Given the description of an element on the screen output the (x, y) to click on. 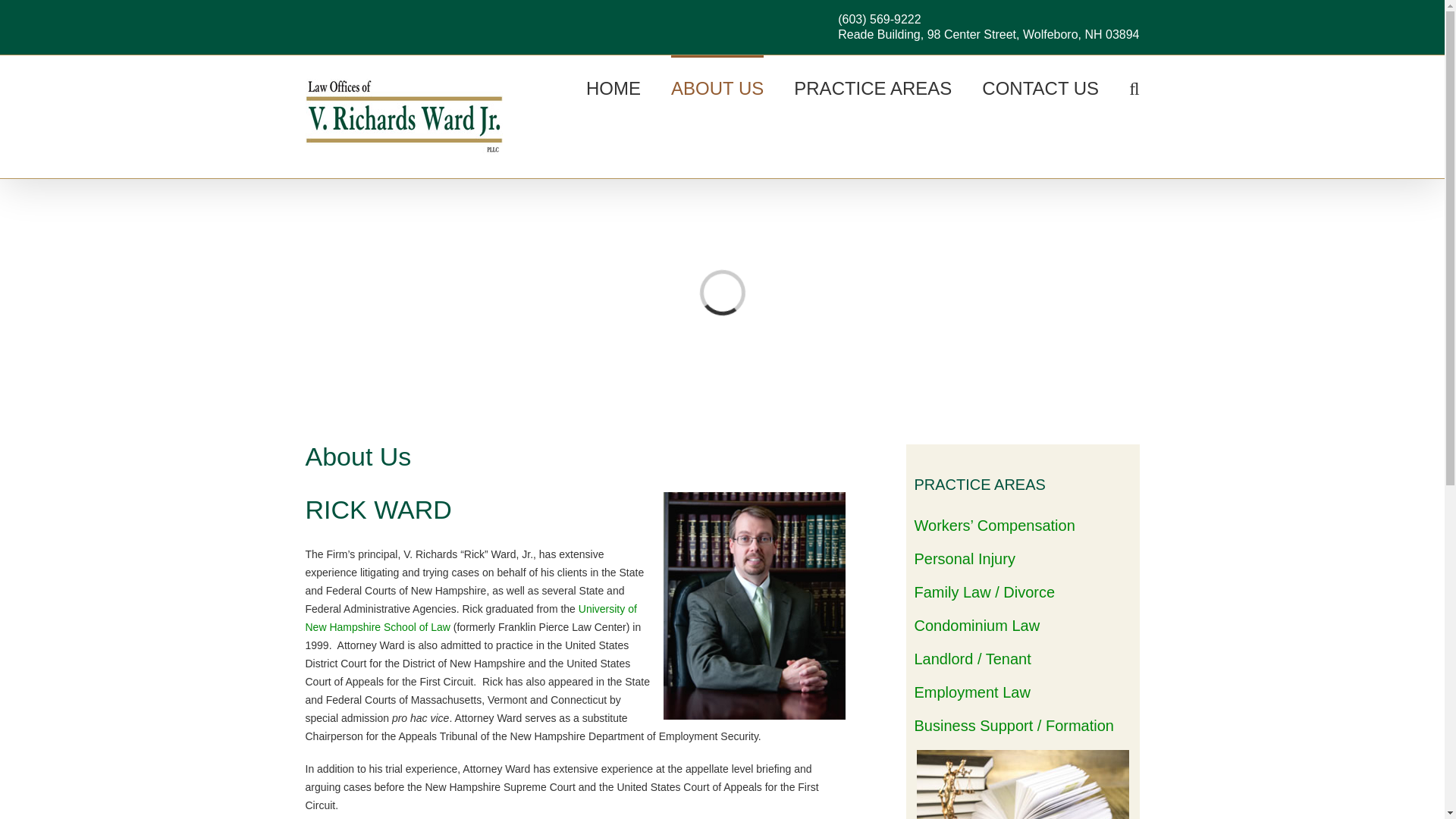
CONTACT US (1040, 86)
ABOUT US (716, 86)
Condominium Law (977, 625)
University of New Hampshire School of Law (470, 617)
PRACTICE AREAS (872, 86)
Personal Injury (964, 558)
Reade Building, 98 Center Street, Wolfeboro, NH 03894 (988, 33)
Employment Law (972, 692)
